Given the description of an element on the screen output the (x, y) to click on. 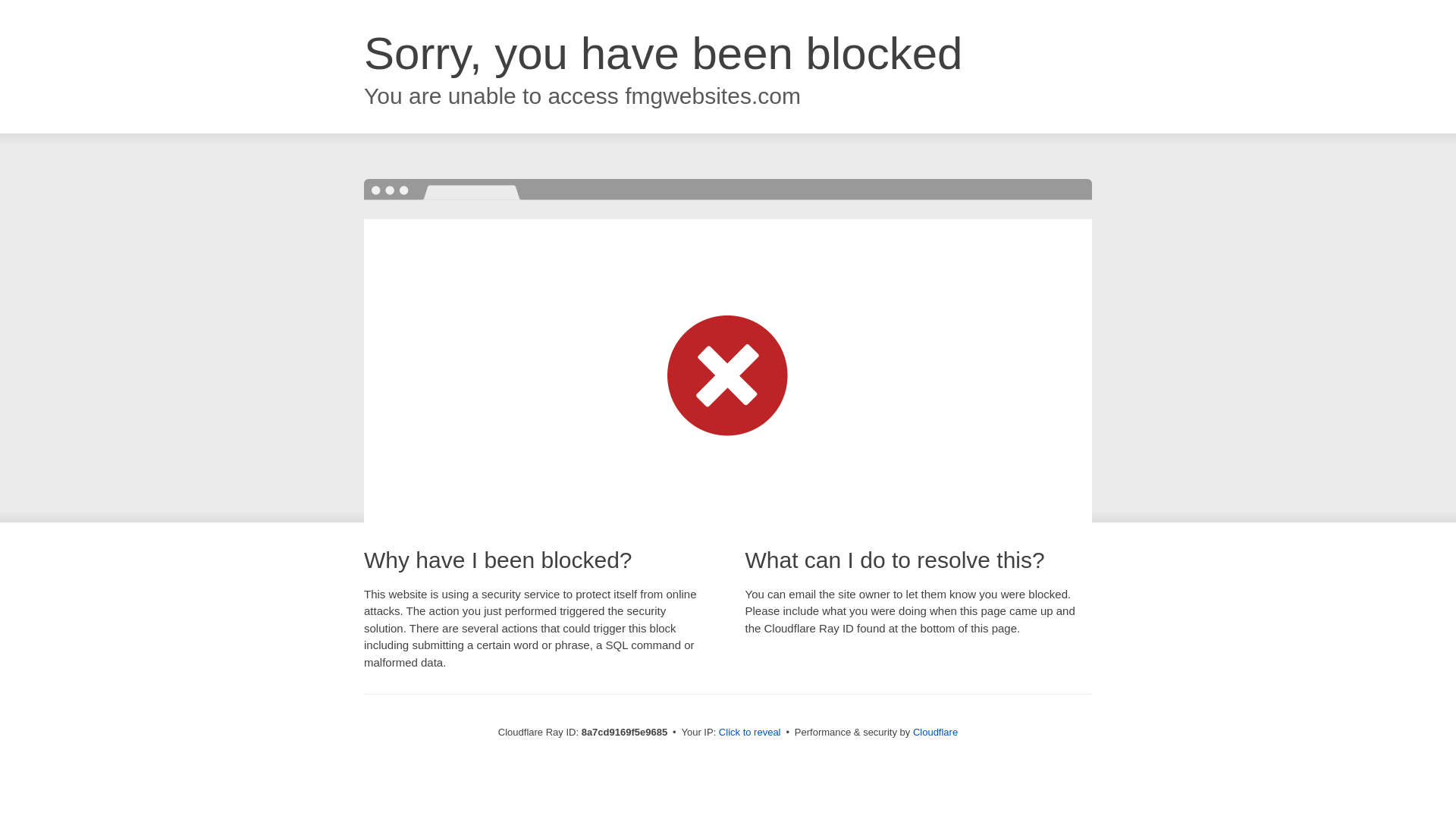
Click to reveal (749, 732)
Cloudflare (935, 731)
